Given the description of an element on the screen output the (x, y) to click on. 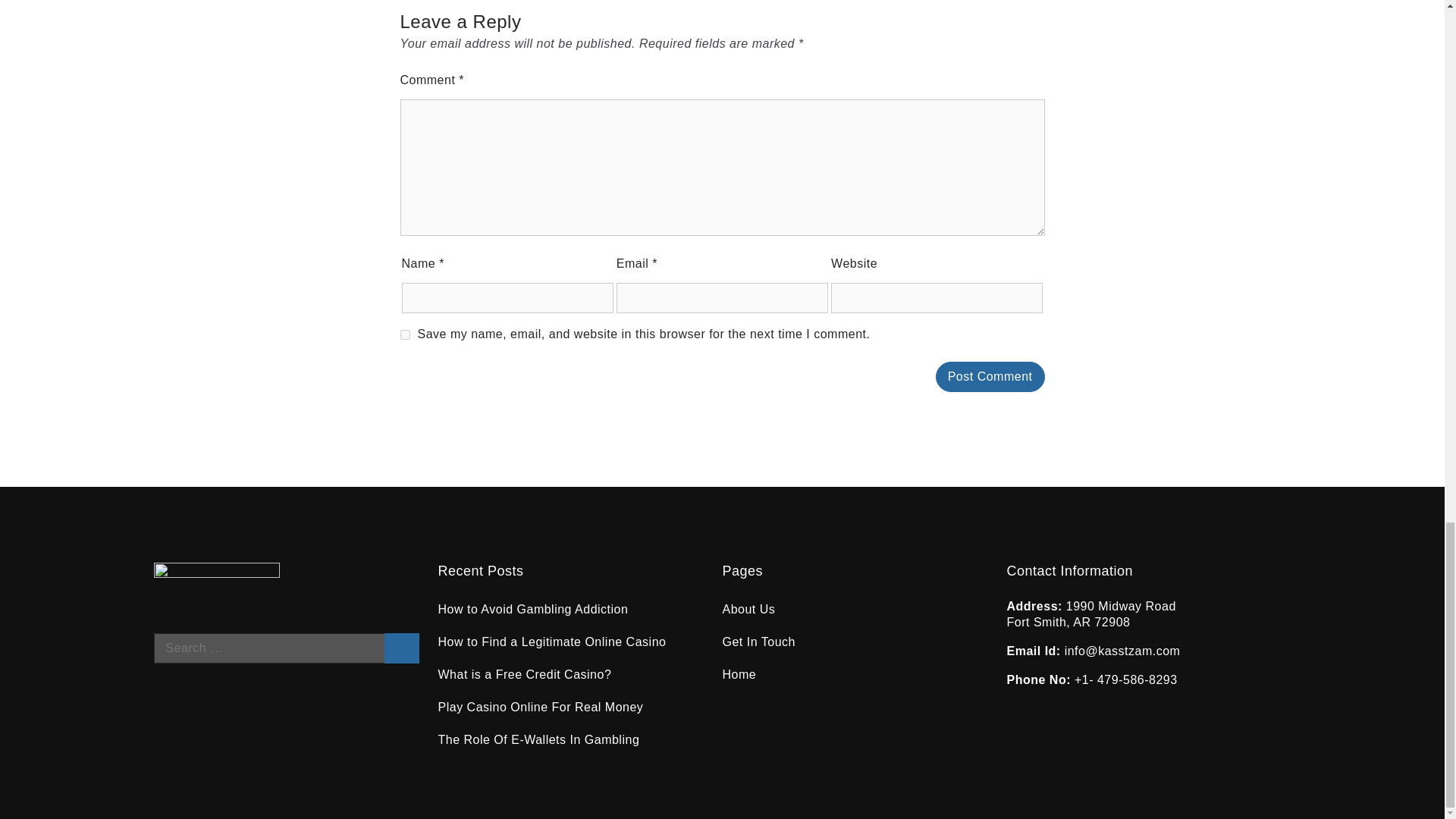
Post Comment (990, 376)
Play Casino Online For Real Money (540, 707)
Post Comment (990, 376)
How to Avoid Gambling Addiction (533, 608)
How to Find a Legitimate Online Casino  (553, 641)
Home (738, 674)
About Us (748, 608)
Search (401, 648)
Get In Touch (758, 641)
The Role Of E-Wallets In Gambling (539, 739)
